Given the description of an element on the screen output the (x, y) to click on. 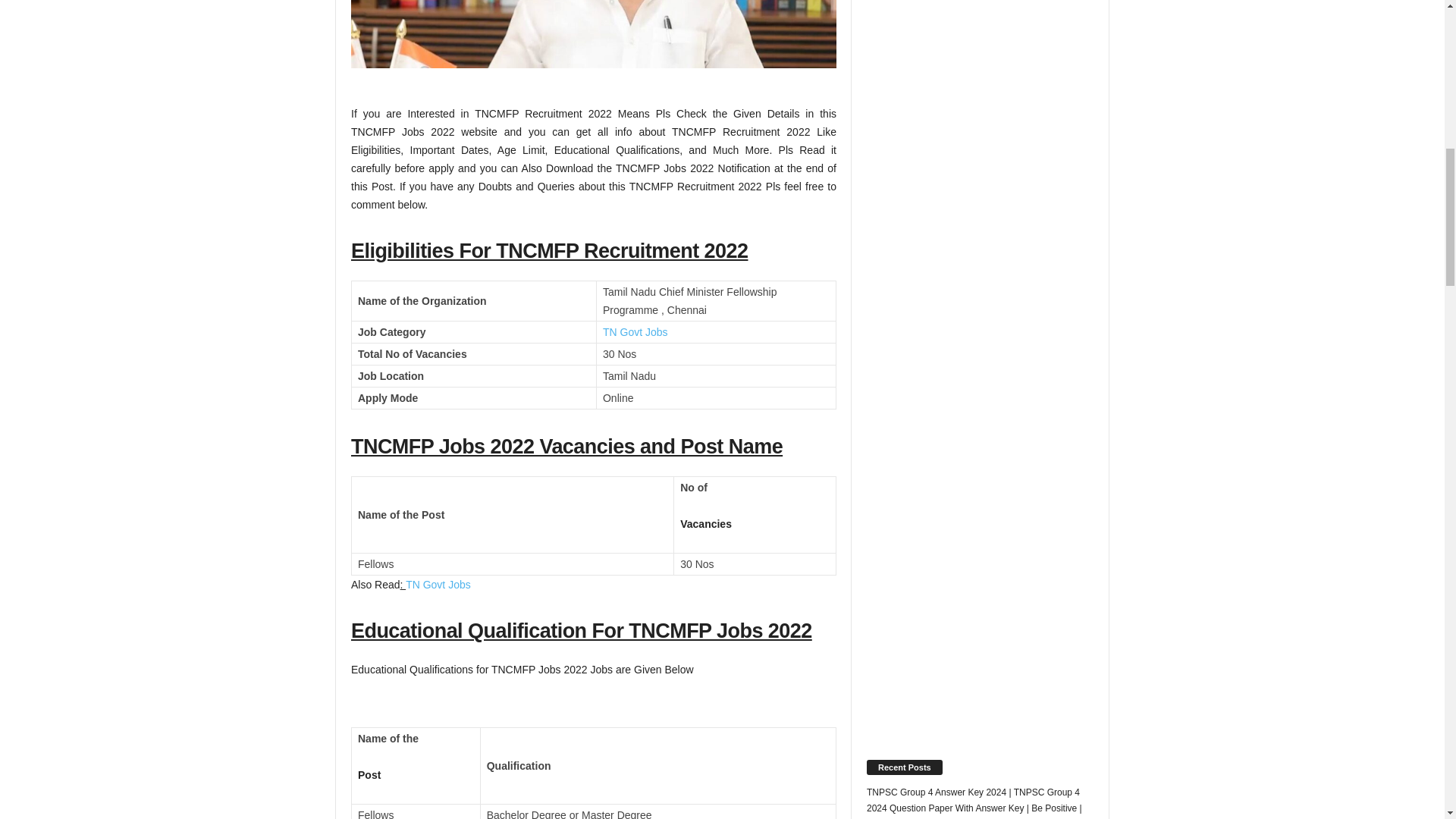
TN Govt Jobs (635, 331)
TN Govt Jobs (438, 584)
TNCMFP Recruitment 2022 (592, 33)
